Given the description of an element on the screen output the (x, y) to click on. 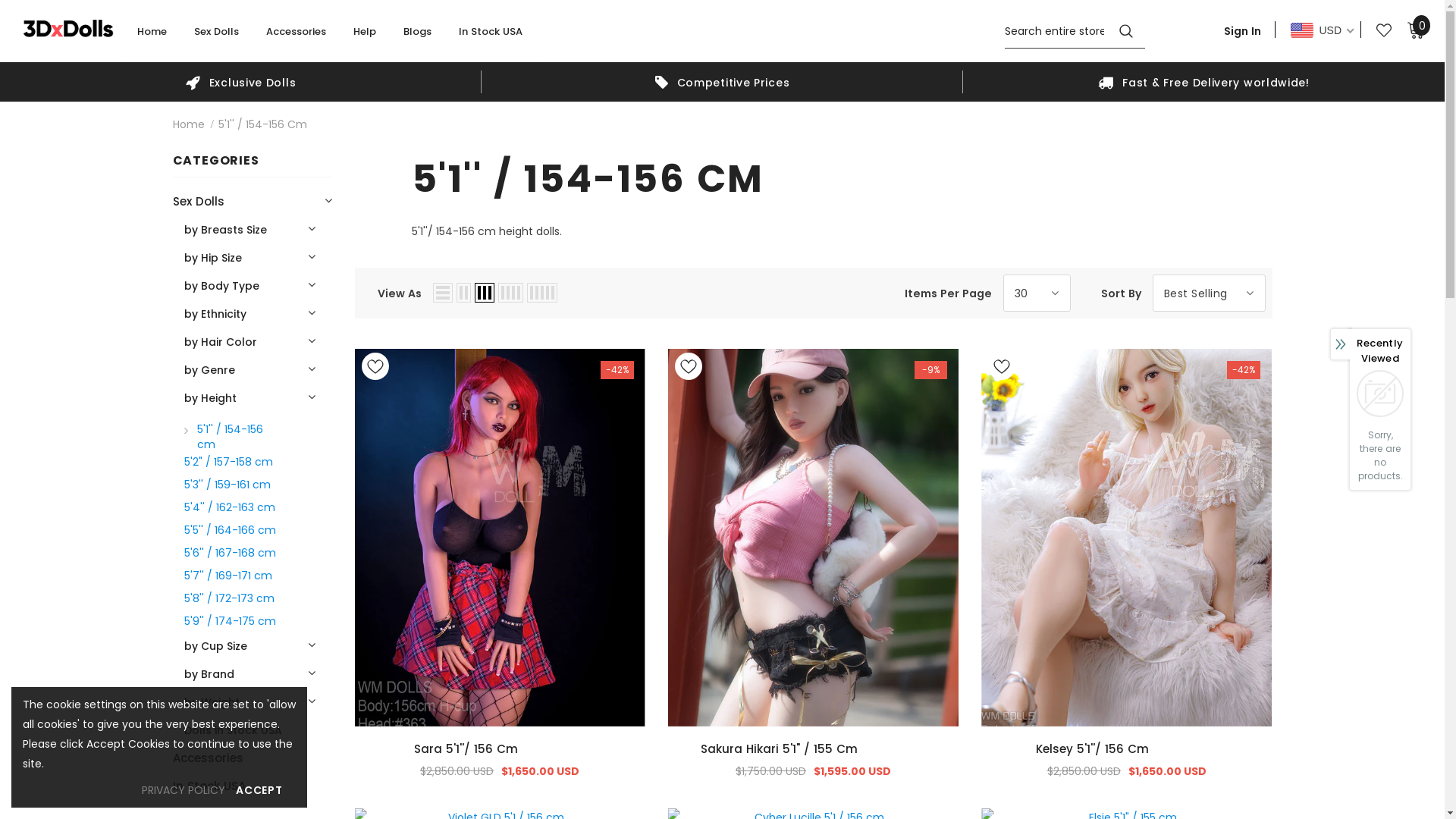
5'1'' / 154-156 cm Element type: text (232, 436)
Accessories Element type: text (207, 757)
0 Element type: text (1415, 29)
Kelsey 5'1''/ 156 Cm Element type: text (1126, 749)
Fast & Free Delivery worldwide! Element type: text (1203, 81)
Sex Dolls Element type: text (198, 201)
5'1'' / 154-156 Cm Element type: text (262, 123)
by Genre Element type: text (208, 369)
5'8'' / 172-173 cm Element type: text (228, 597)
Home Element type: text (188, 124)
In Stock USA Element type: text (490, 37)
Sara 5'1''/ 156 Cm Element type: text (499, 749)
by Height Element type: text (209, 397)
Accessories Element type: text (296, 37)
by Body Type Element type: text (220, 285)
Logo Element type: hover (67, 27)
5'2" / 157-158 cm Element type: text (227, 460)
by Hair Color Element type: text (219, 341)
PRIVACY POLICY Element type: text (183, 790)
Competitive Prices Element type: text (721, 81)
Sakura Hikari 5'1" / 155 Cm Element type: text (813, 749)
Home Element type: text (151, 37)
5'4'' / 162-163 cm Element type: text (228, 506)
5'7'' / 169-171 cm Element type: text (227, 574)
In Stock USA Element type: text (208, 785)
by Breasts Size Element type: text (224, 229)
Sign In Element type: text (1242, 29)
by Cup Size Element type: text (214, 645)
by Ethnicity Element type: text (214, 313)
Blogs Element type: text (417, 37)
Help Element type: text (364, 37)
5'5'' / 164-166 cm Element type: text (229, 528)
by Brand Element type: text (208, 673)
by Hip Size Element type: text (212, 257)
Dolls in Stock USA Element type: text (232, 729)
Sex Dolls Element type: text (216, 37)
5'3'' / 159-161 cm Element type: text (226, 483)
5'6'' / 167-168 cm Element type: text (229, 551)
5'9'' / 174-175 cm Element type: text (229, 619)
Exclusive Dolls Element type: text (240, 81)
by Weight Element type: text (210, 701)
